Given the description of an element on the screen output the (x, y) to click on. 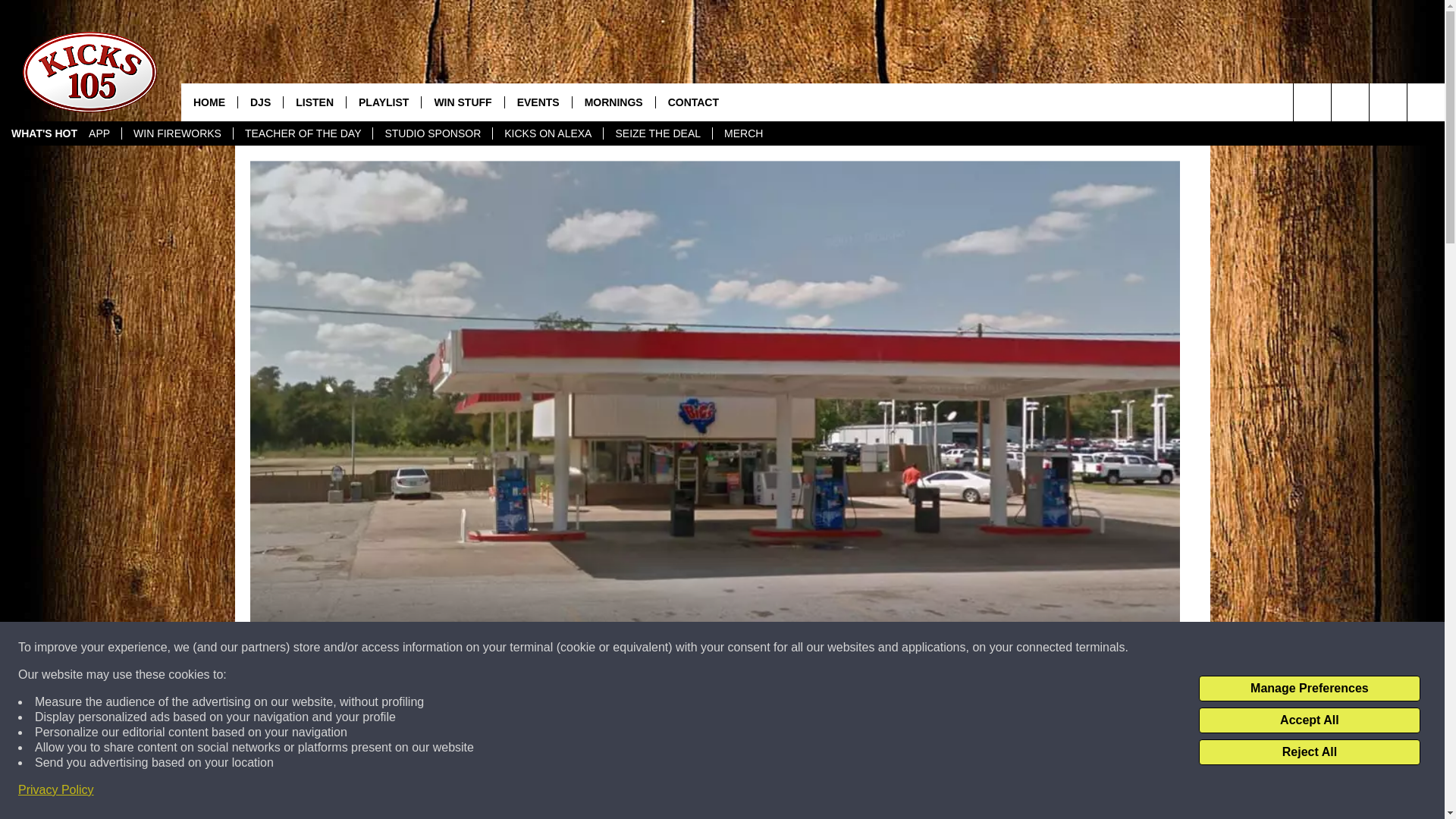
APP (98, 133)
STUDIO SPONSOR (432, 133)
KICKS ON ALEXA (547, 133)
DJS (259, 102)
Share on Twitter (912, 791)
Reject All (1309, 751)
SEIZE THE DEAL (656, 133)
WIN FIREWORKS (176, 133)
LISTEN (314, 102)
Privacy Policy (55, 789)
WIN STUFF (461, 102)
HOME (208, 102)
TEACHER OF THE DAY (302, 133)
Manage Preferences (1309, 688)
Accept All (1309, 720)
